Given the description of an element on the screen output the (x, y) to click on. 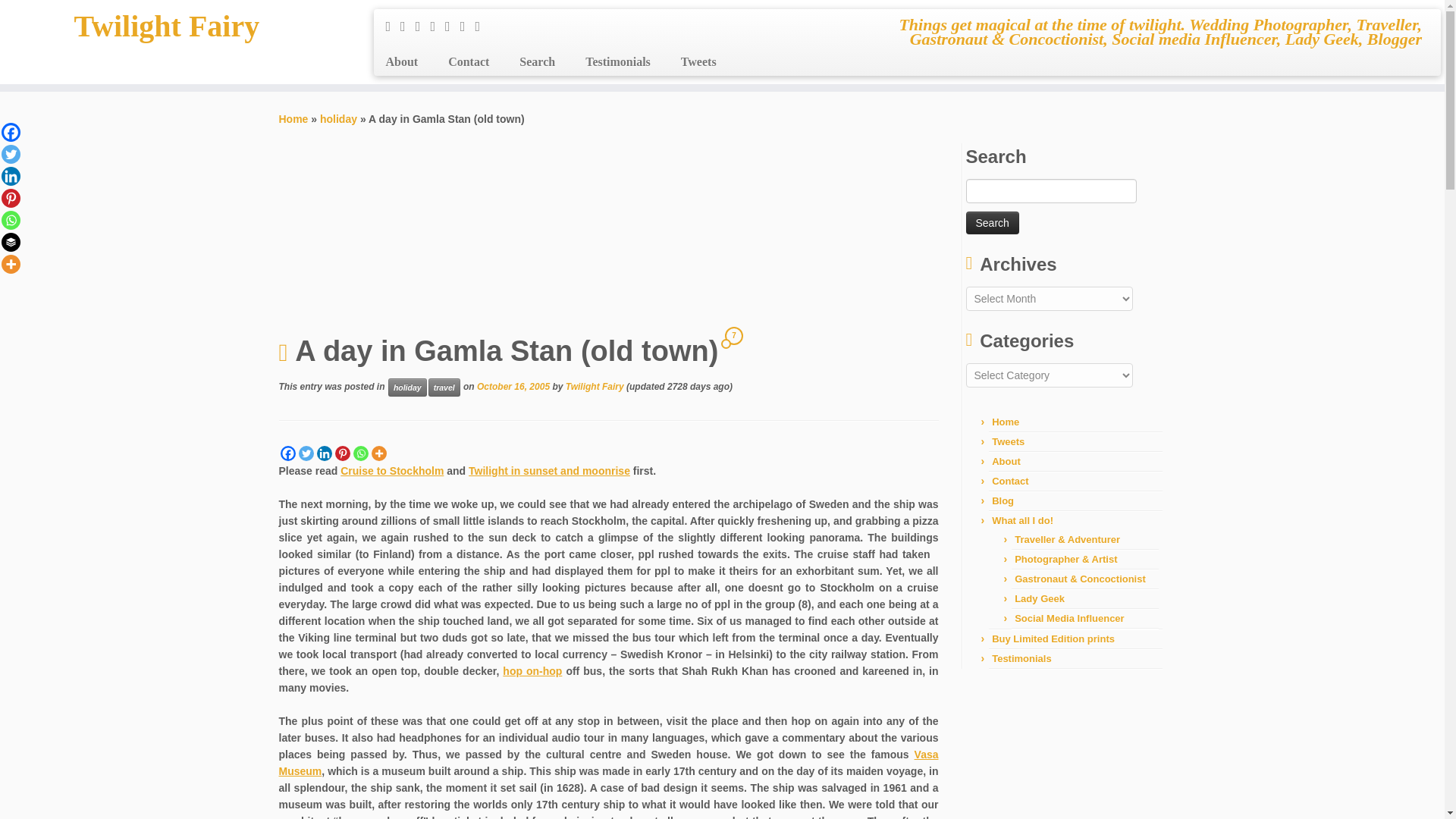
Vasa Museum (609, 762)
Twilight in sunset and moonrise (549, 470)
Home (293, 119)
holiday (407, 387)
View all posts in travel (444, 387)
holiday (338, 119)
holiday (338, 119)
Search (992, 222)
Contact (467, 62)
Follow me on Flickr (452, 26)
